Given the description of an element on the screen output the (x, y) to click on. 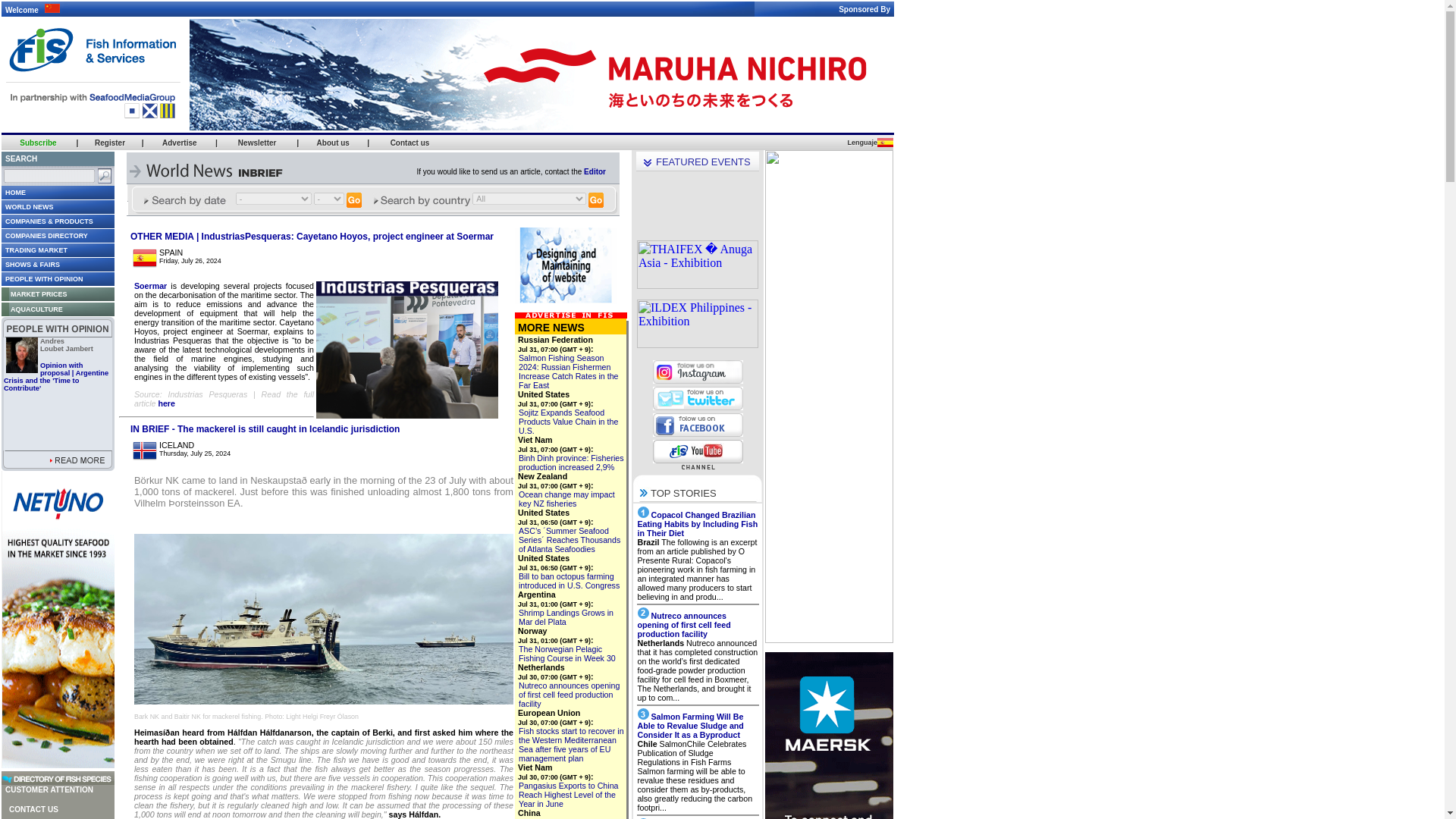
WORLD NEWS (27, 205)
here (165, 402)
TRADING MARKET (33, 248)
PEOPLE WITH OPINION (41, 277)
MARKET PRICES (33, 293)
AQUACULTURE (31, 307)
Newsletter (66, 344)
Full calendar of seafood related worldwide events (257, 142)
CONTACT US (30, 263)
Advertise (31, 809)
Editor (178, 142)
